Given the description of an element on the screen output the (x, y) to click on. 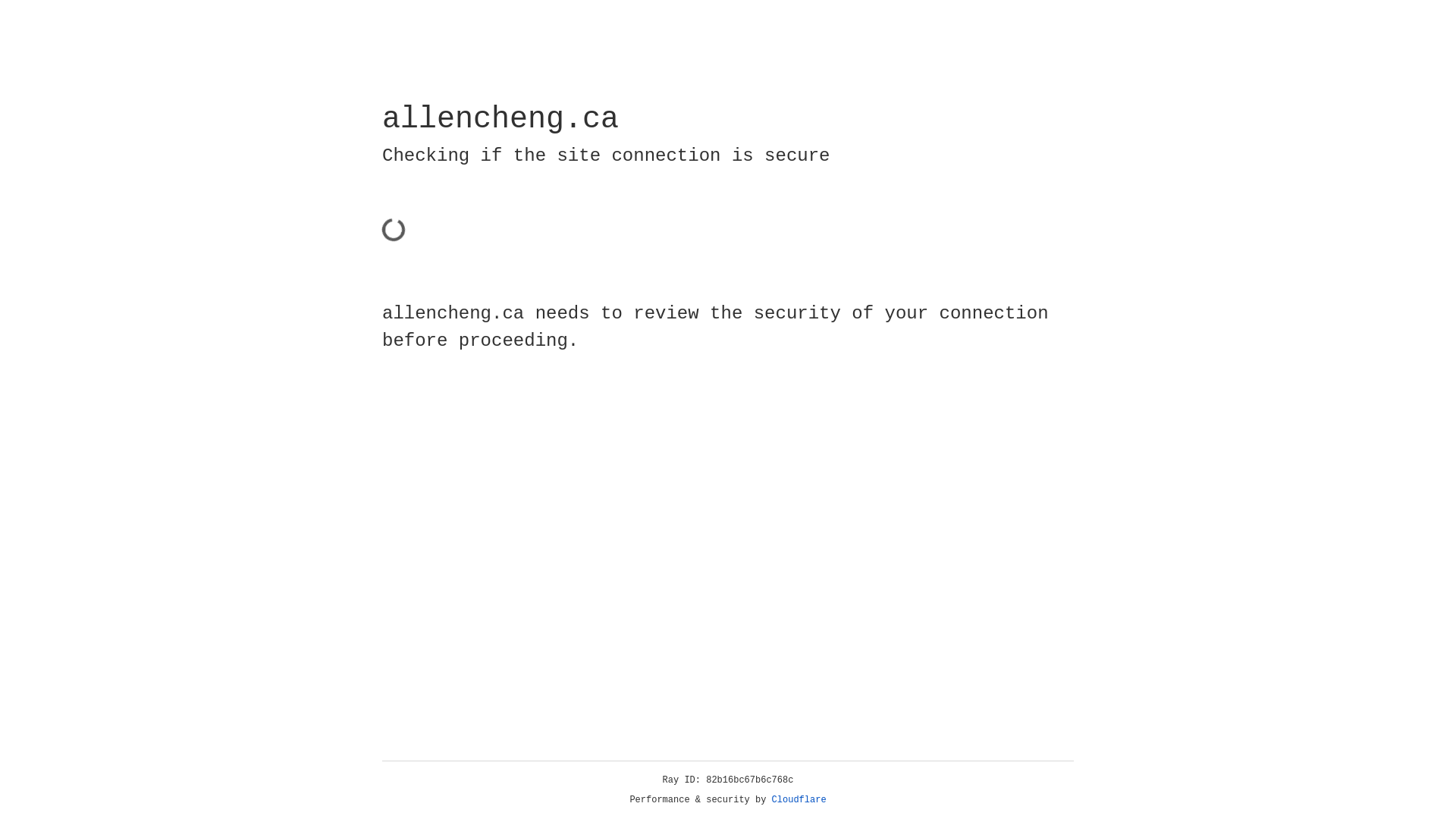
Cloudflare Element type: text (798, 799)
